Given the description of an element on the screen output the (x, y) to click on. 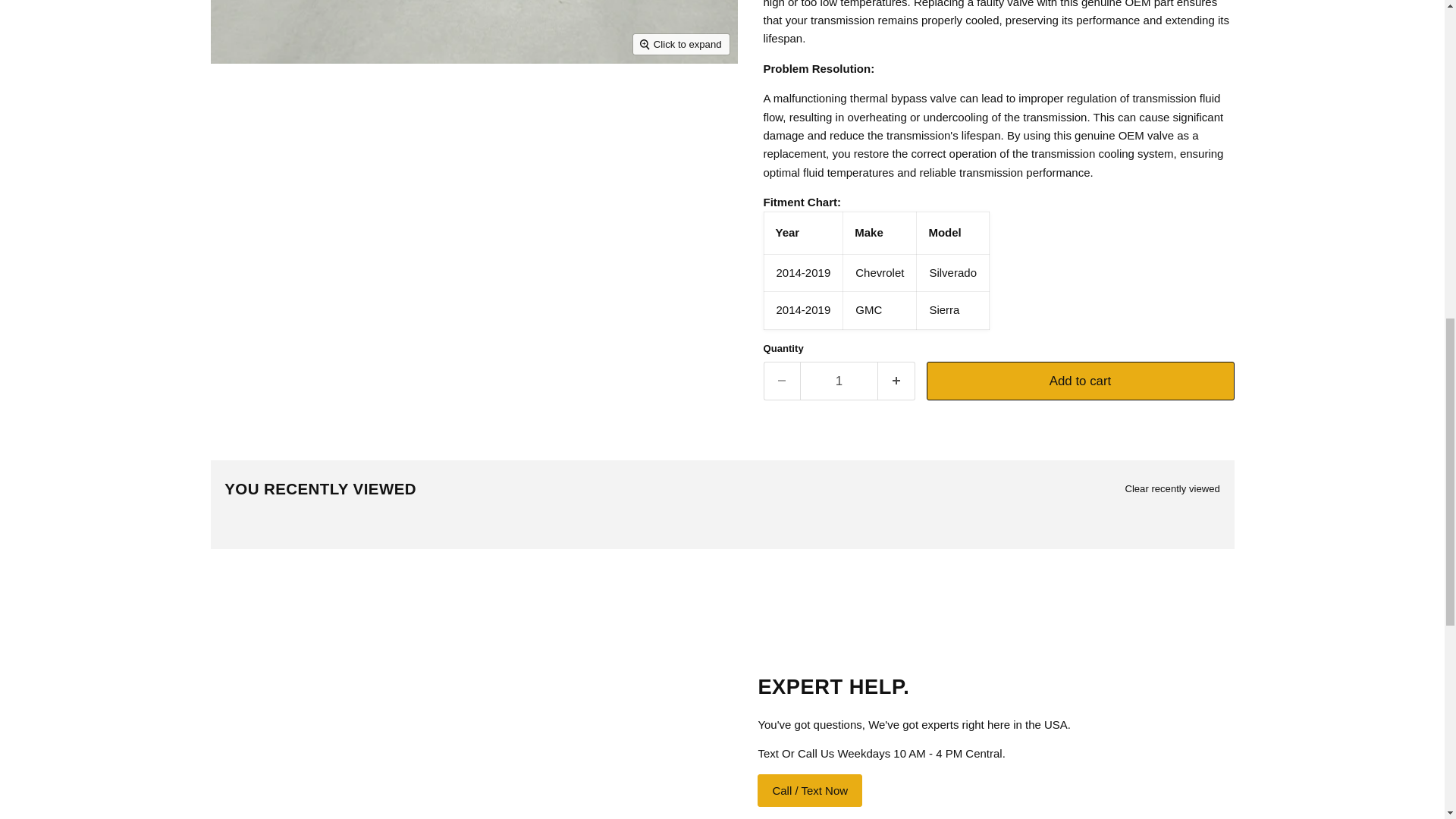
Click to expand (681, 44)
1 (838, 380)
Clear recently viewed (1172, 488)
Add to cart (1080, 380)
